Given the description of an element on the screen output the (x, y) to click on. 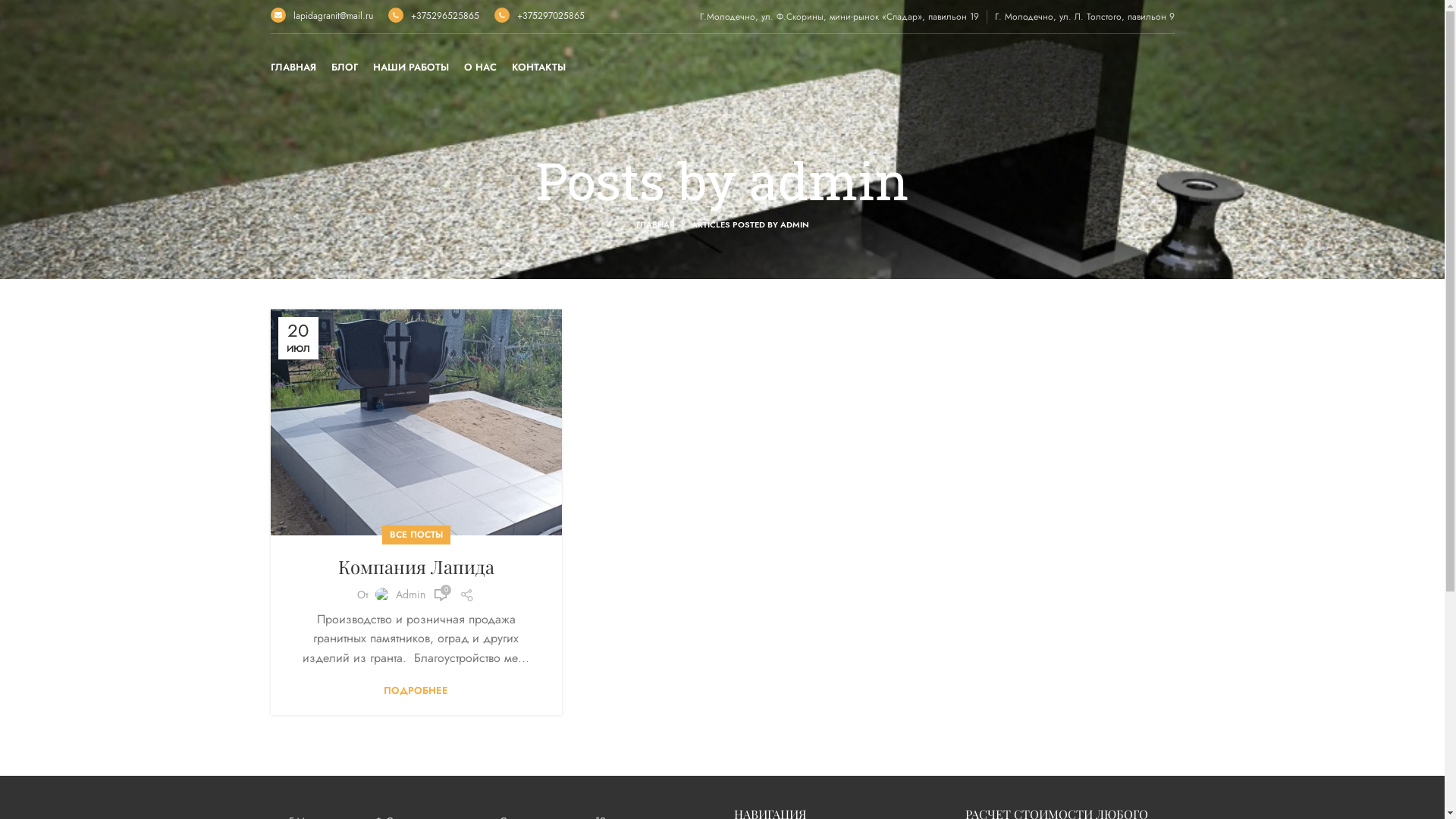
lapidagranit@mail.ru Element type: text (320, 15)
0 Element type: text (440, 594)
Admin Element type: text (410, 594)
+375297025865 Element type: text (539, 15)
+375296525865 Element type: text (433, 15)
admin Element type: text (829, 179)
